Given the description of an element on the screen output the (x, y) to click on. 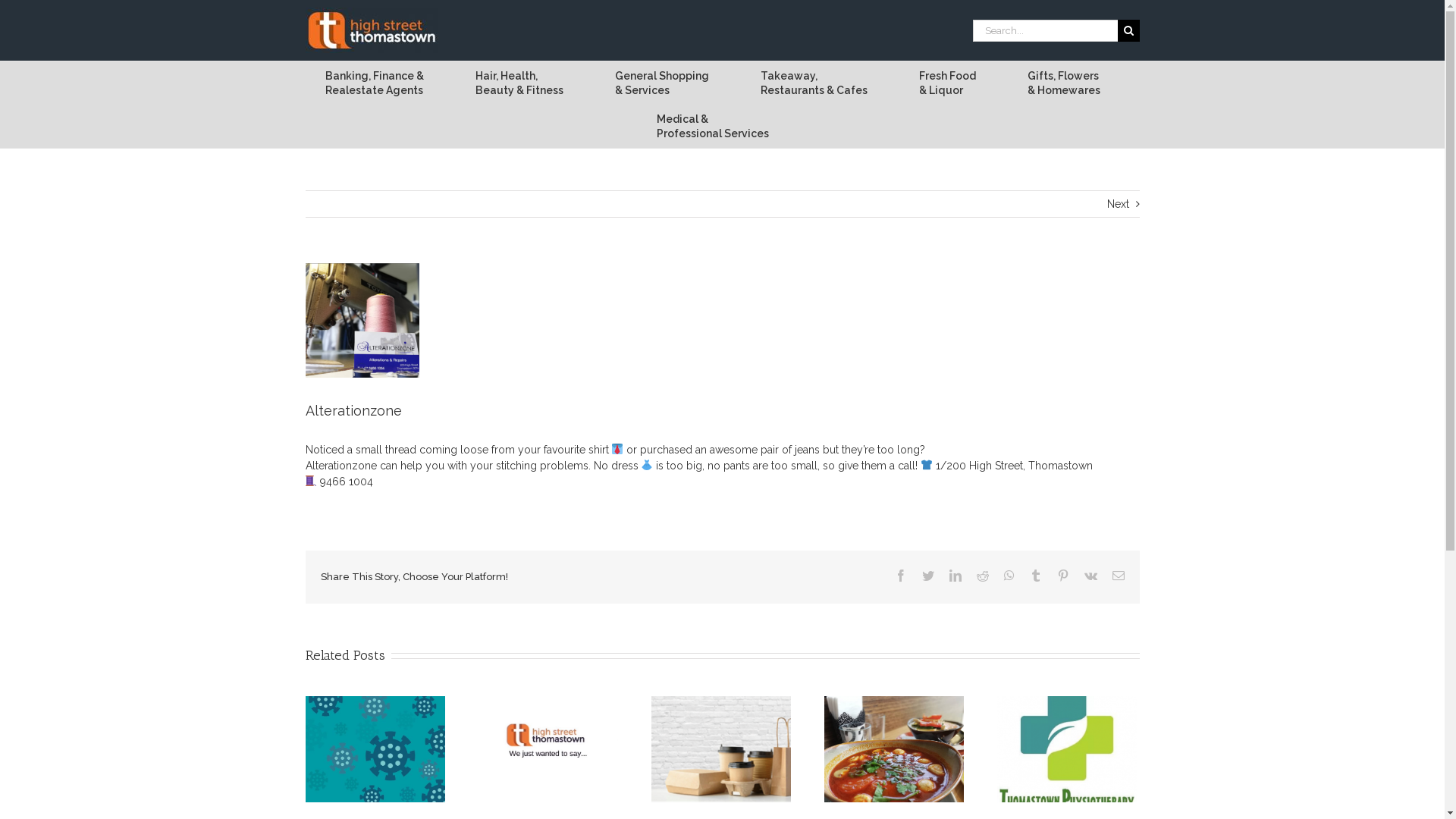
linkedin Element type: text (955, 575)
vk Element type: text (1090, 575)
reddit Element type: text (982, 575)
tumblr Element type: text (1035, 575)
facebook Element type: text (900, 575)
Email Element type: text (1117, 575)
twitter Element type: text (928, 575)
Banking, Finance &
Realestate Agents Element type: text (374, 82)
Medical &
Professional Services Element type: text (712, 125)
View Larger Image Element type: text (361, 320)
Takeaway,
Restaurants & Cafes Element type: text (814, 82)
Next Element type: text (1118, 203)
Gifts, Flowers
& Homewares Element type: text (1064, 82)
Fresh Food
& Liquor Element type: text (946, 82)
Hair, Health,
Beauty & Fitness Element type: text (519, 82)
pinterest Element type: text (1063, 575)
whatsapp Element type: text (1009, 575)
General Shopping
& Services Element type: text (662, 82)
